Given the description of an element on the screen output the (x, y) to click on. 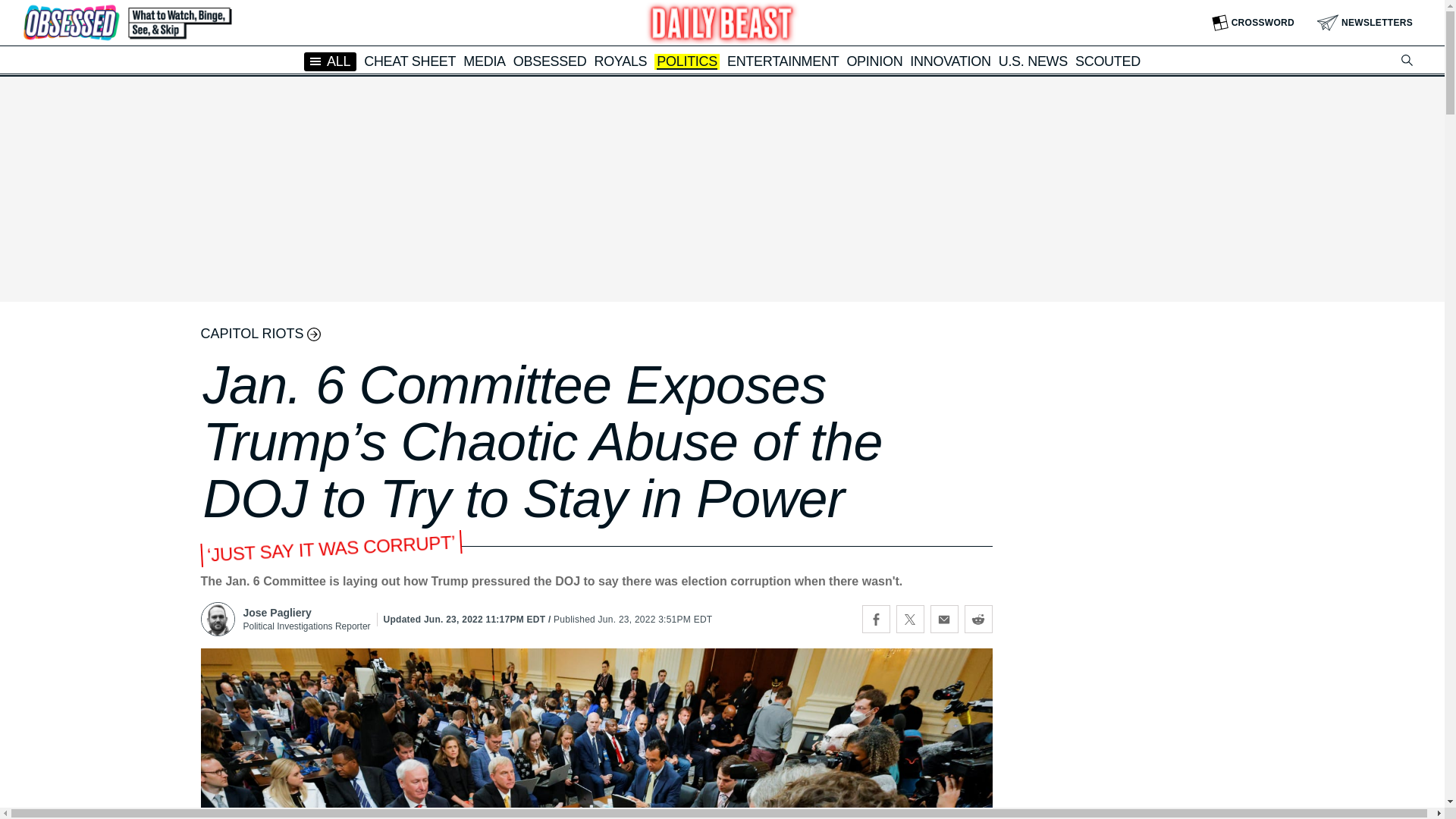
SCOUTED (1107, 60)
OBSESSED (549, 60)
CHEAT SHEET (409, 60)
INNOVATION (950, 60)
OPINION (873, 60)
ROYALS (620, 60)
ALL (330, 60)
NEWSLETTERS (1364, 22)
MEDIA (484, 60)
CROSSWORD (1252, 22)
